Given the description of an element on the screen output the (x, y) to click on. 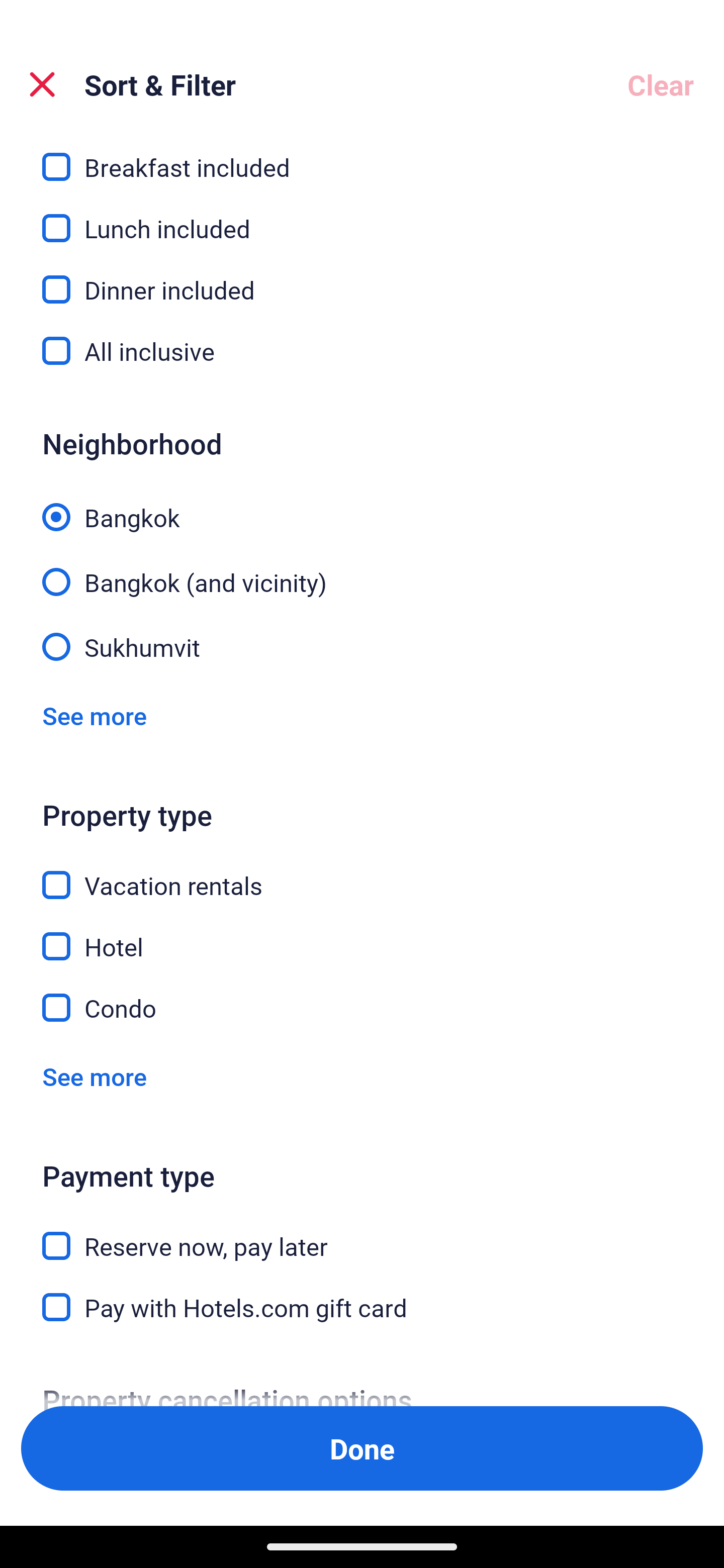
Close Sort and Filter (42, 84)
Clear (660, 84)
Breakfast included, Breakfast included (361, 156)
Lunch included, Lunch included (361, 216)
Dinner included, Dinner included (361, 277)
All inclusive, All inclusive (361, 350)
Bangkok (and vicinity) (361, 571)
Sukhumvit (361, 645)
See more See more neighborhoods Link (93, 714)
Vacation rentals, Vacation rentals (361, 873)
Hotel, Hotel (361, 934)
Condo, Condo (361, 1007)
See more See more property types Link (93, 1075)
Reserve now, pay later, Reserve now, pay later (361, 1234)
Apply and close Sort and Filter Done (361, 1448)
